Given the description of an element on the screen output the (x, y) to click on. 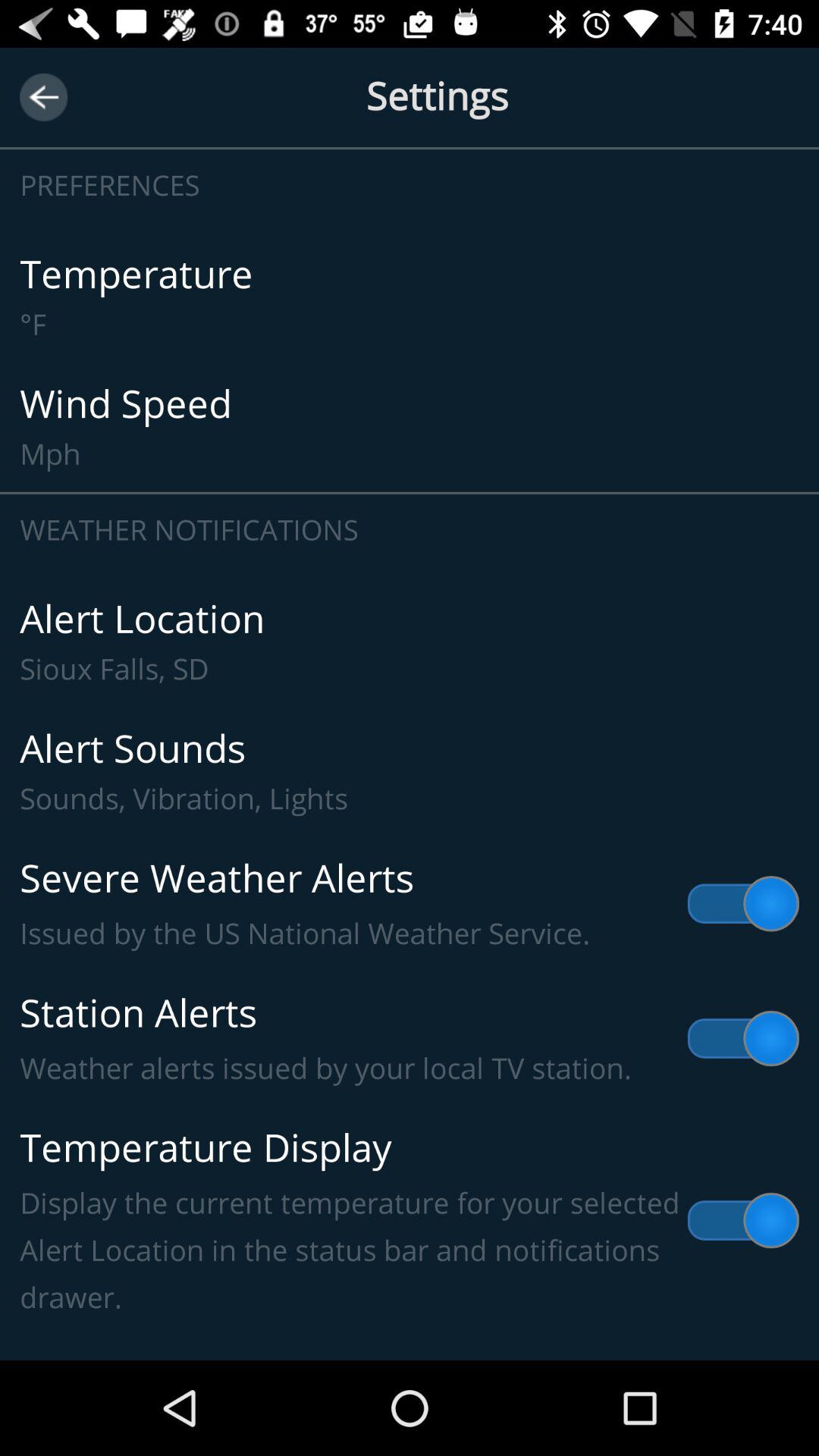
flip to the temperature display display item (409, 1220)
